Given the description of an element on the screen output the (x, y) to click on. 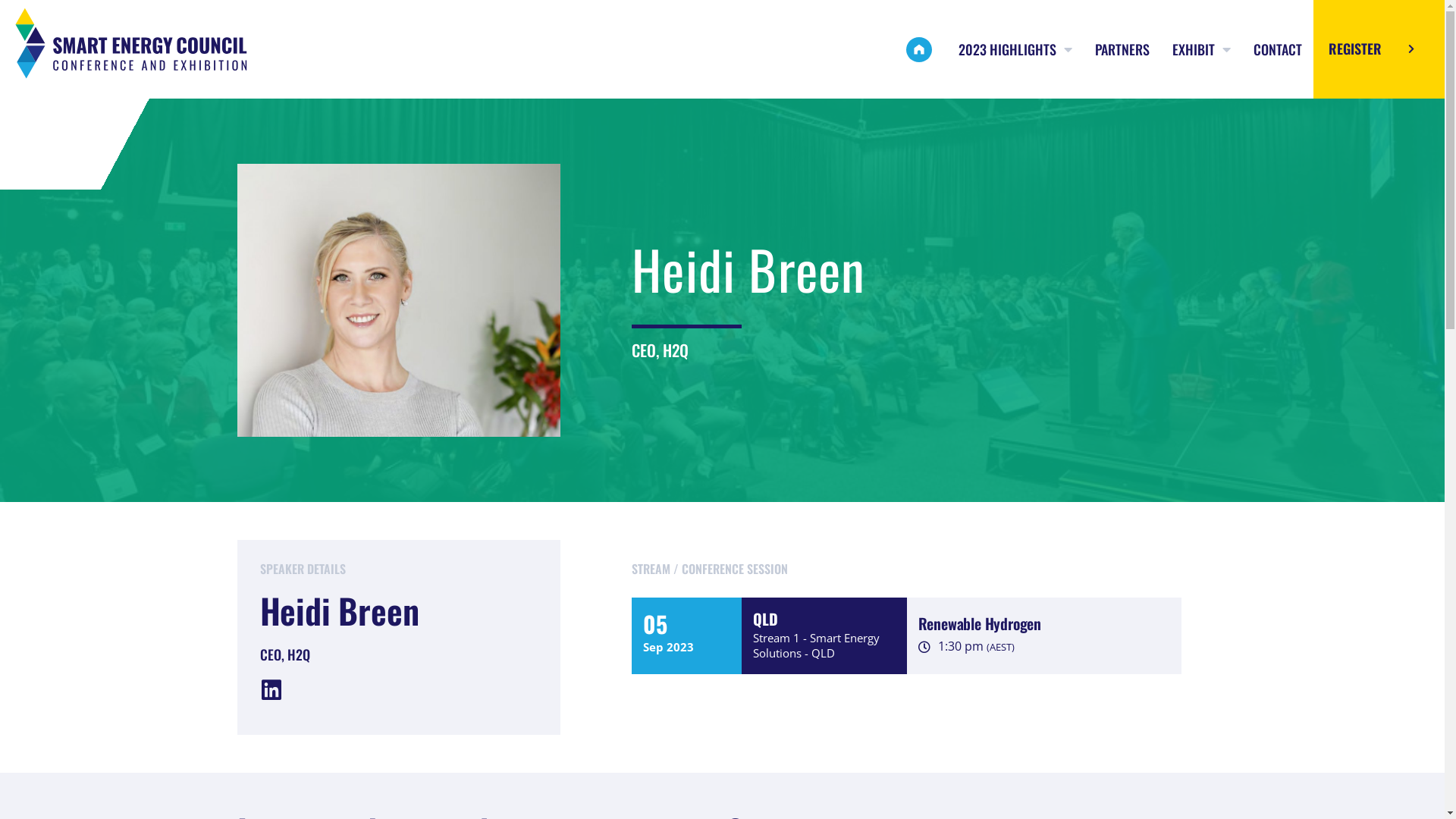
2023 HIGHLIGHTS Element type: text (1015, 48)
REGISTER Element type: text (1378, 49)
EXHIBIT Element type: text (1201, 48)
CONTACT Element type: text (1277, 48)
PARTNERS Element type: text (1122, 48)
